Given the description of an element on the screen output the (x, y) to click on. 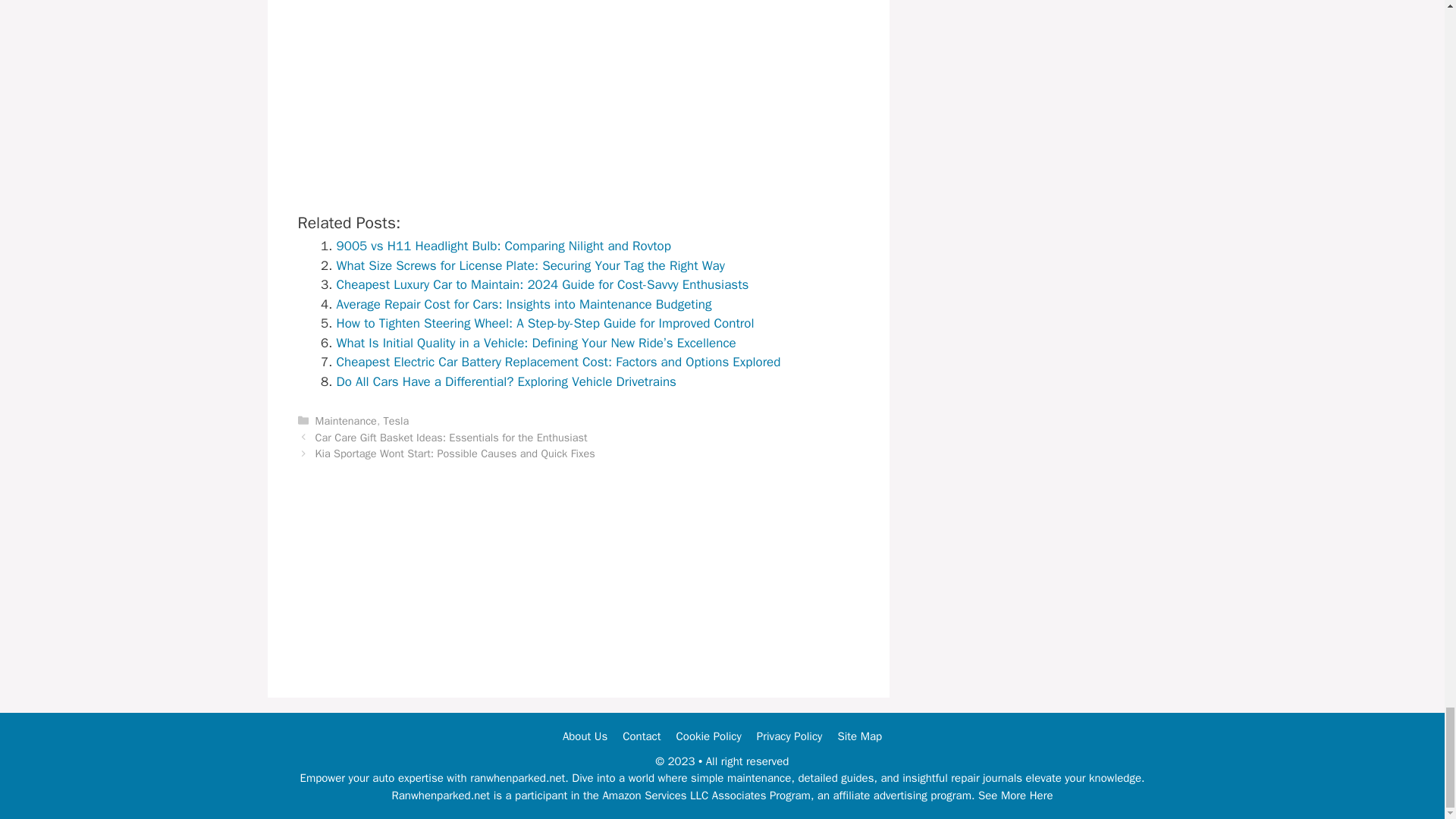
9005 vs H11 Headlight Bulb: Comparing Nilight and Rovtop (503, 245)
